Given the description of an element on the screen output the (x, y) to click on. 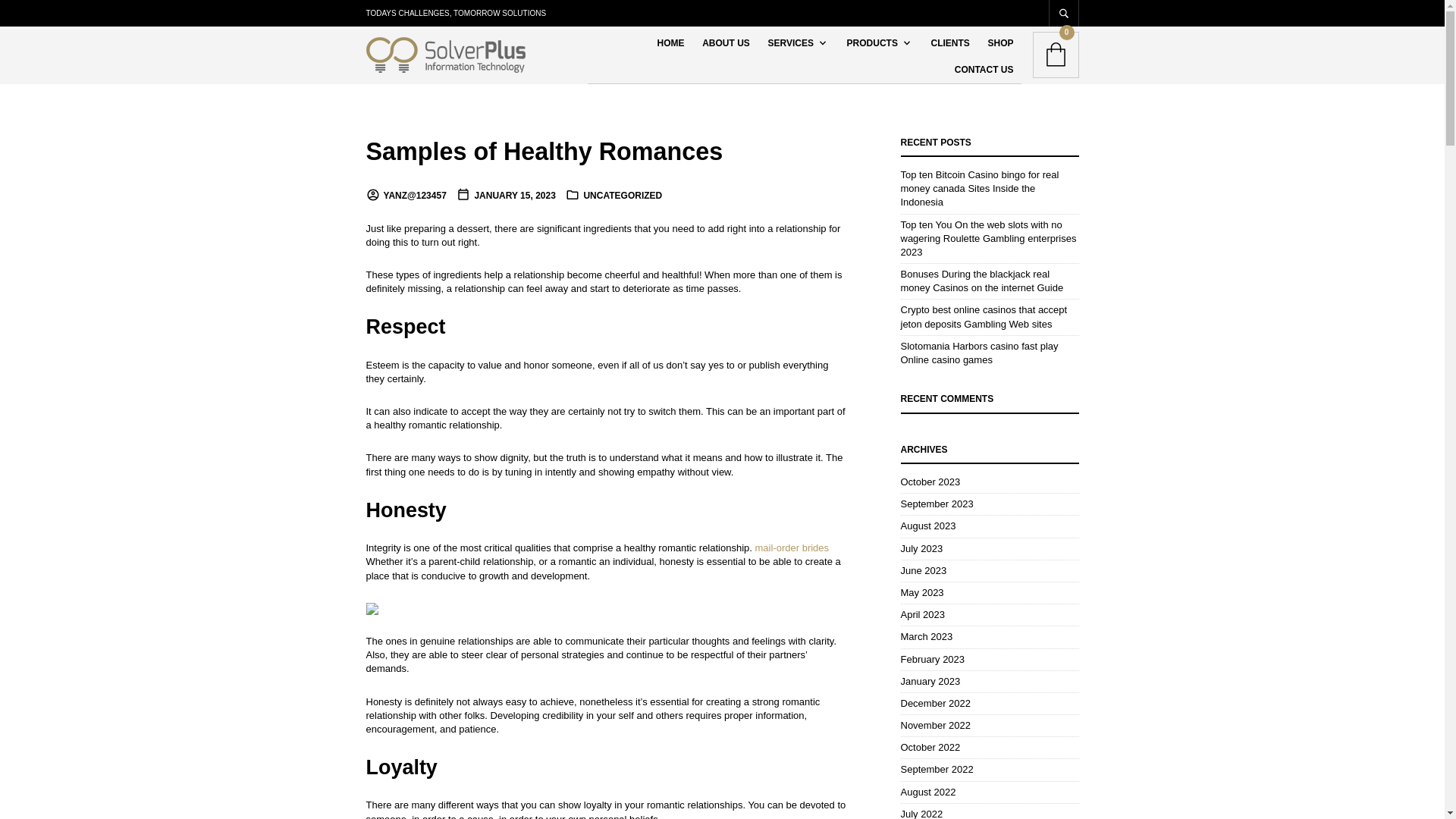
CONTACT US (984, 69)
June 2023 (924, 570)
SERVICES (794, 43)
August 2023 (928, 525)
October 2023 (930, 481)
JANUARY 15, 2023 (505, 195)
Slotomania Harbors casino fast play Online casino games (979, 352)
mail-order brides (792, 547)
